Given the description of an element on the screen output the (x, y) to click on. 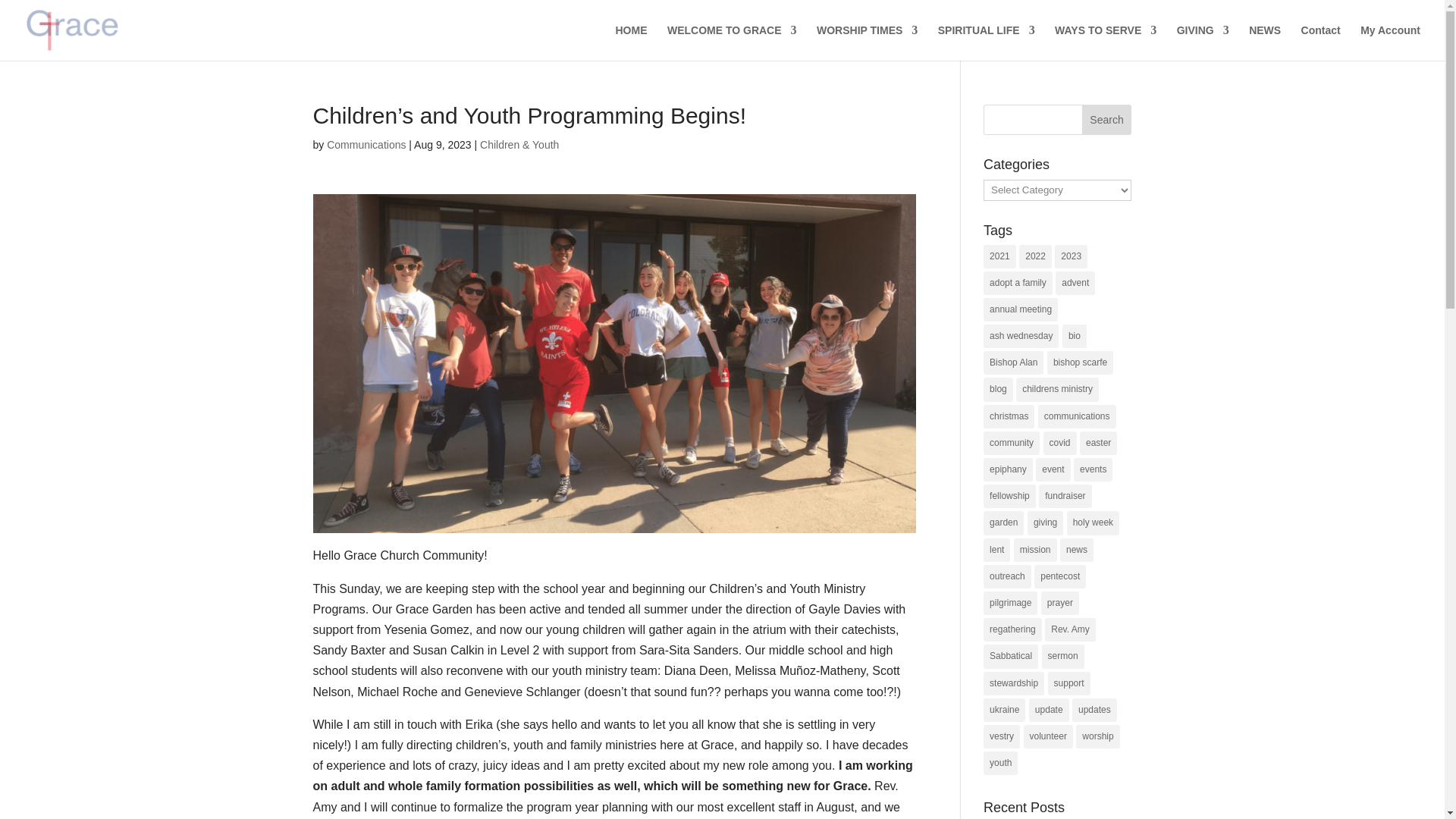
GIVING (1202, 42)
NEWS (1265, 42)
Contact (1320, 42)
Posts by Communications (366, 144)
HOME (630, 42)
My Account (1390, 42)
WELCOME TO GRACE (731, 42)
WORSHIP TIMES (866, 42)
SPIRITUAL LIFE (986, 42)
Search (1106, 119)
WAYS TO SERVE (1105, 42)
